Given the description of an element on the screen output the (x, y) to click on. 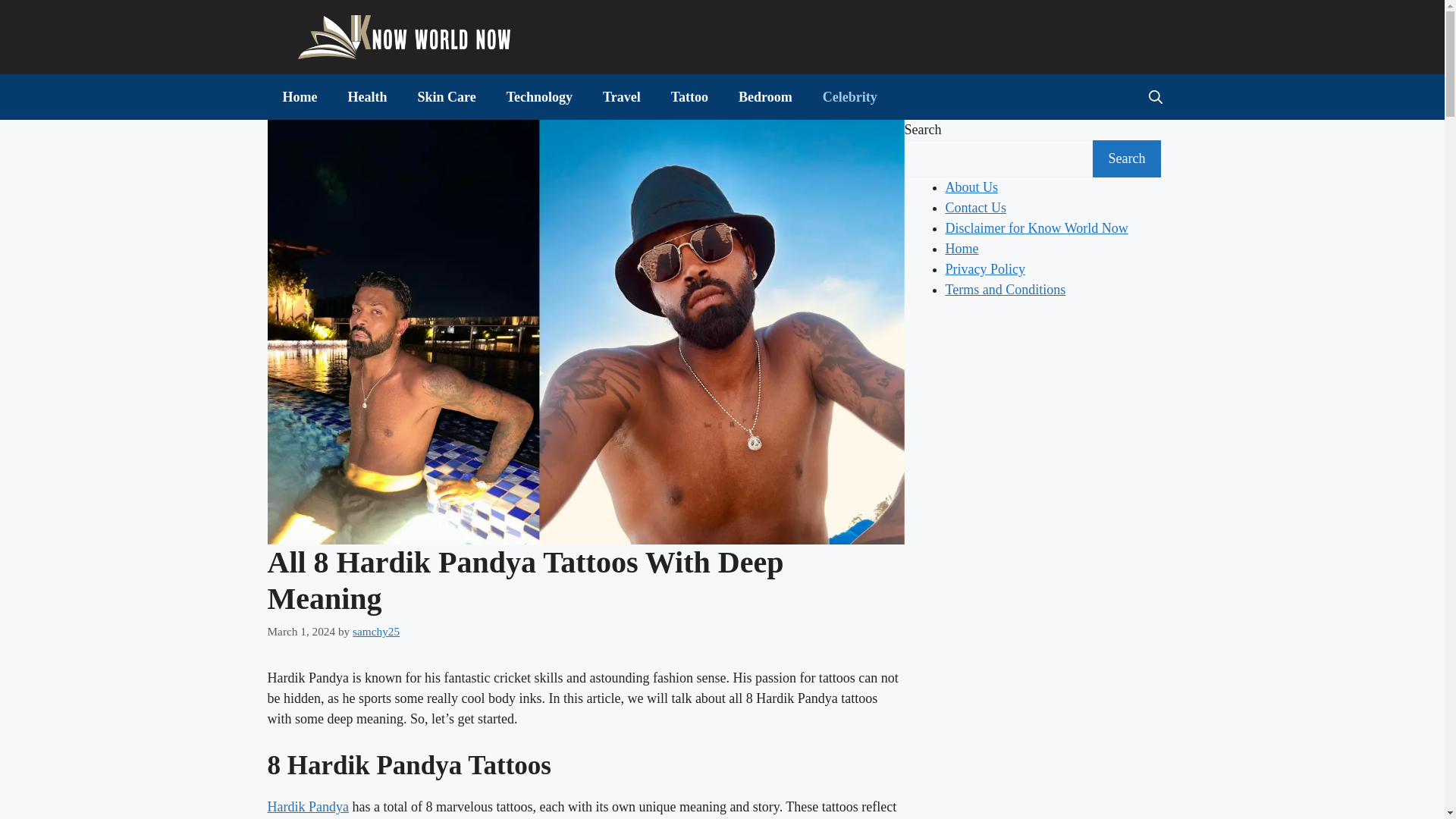
Terms and Conditions (1004, 289)
Hardik Pandya (306, 806)
Celebrity (850, 96)
About Us (970, 186)
Search (1126, 158)
samchy25 (375, 631)
Home (298, 96)
Contact Us (975, 207)
Tattoo (689, 96)
Disclaimer for Know World Now (1035, 227)
Skin Care (445, 96)
Technology (540, 96)
Home (961, 248)
Health (366, 96)
